Given the description of an element on the screen output the (x, y) to click on. 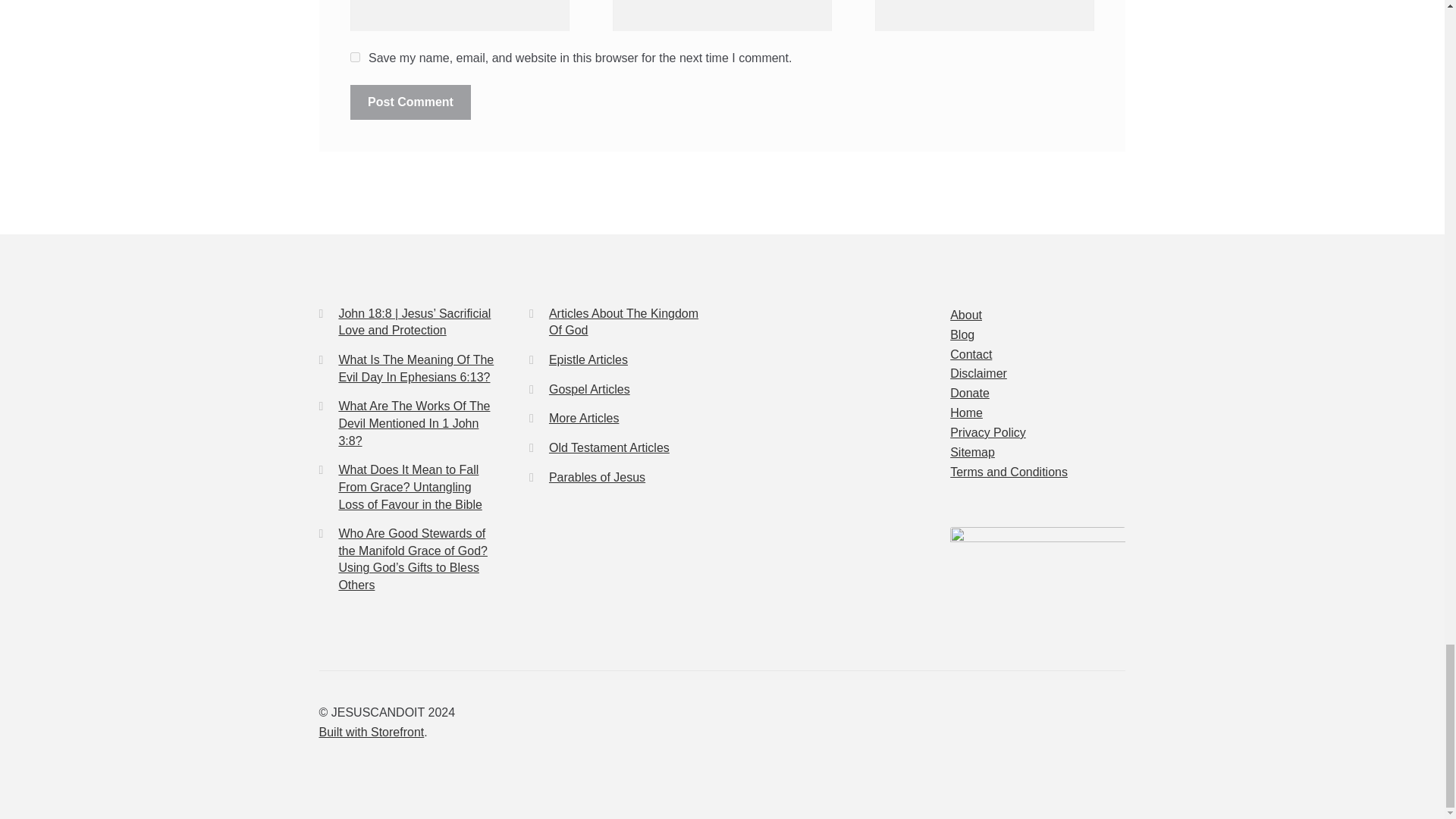
yes (354, 57)
Post Comment (410, 102)
Post Comment (410, 102)
